Given the description of an element on the screen output the (x, y) to click on. 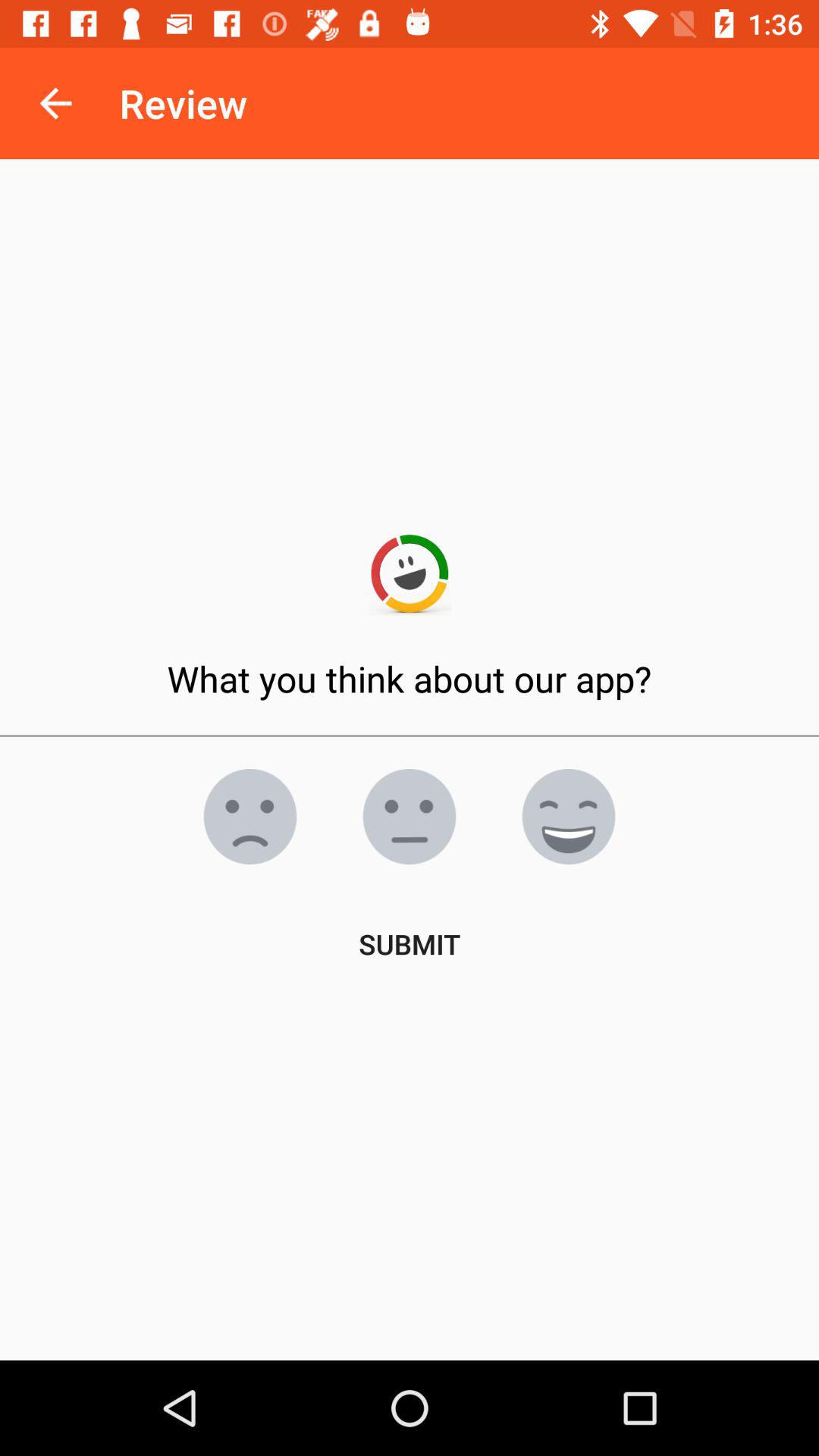
jump to the submit (409, 943)
